Given the description of an element on the screen output the (x, y) to click on. 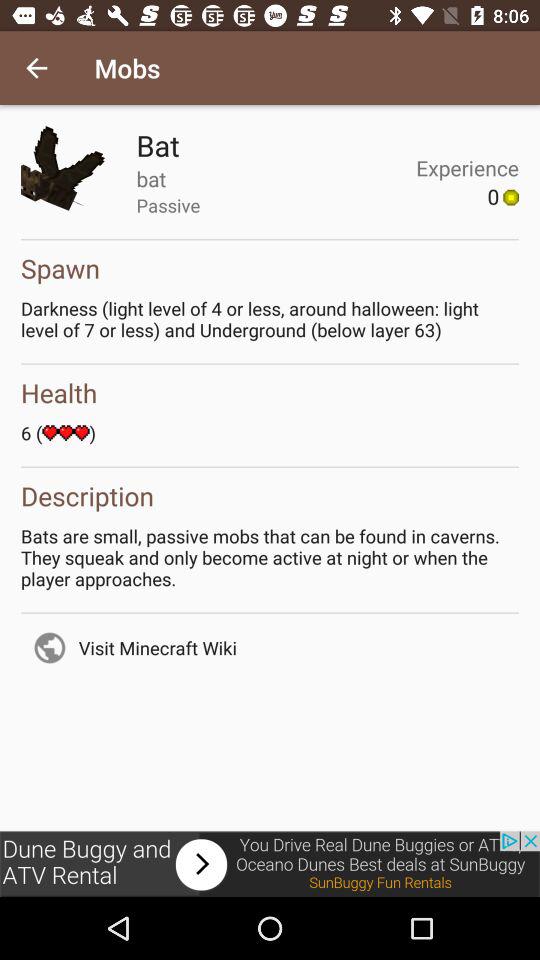
advertisement (270, 864)
